Given the description of an element on the screen output the (x, y) to click on. 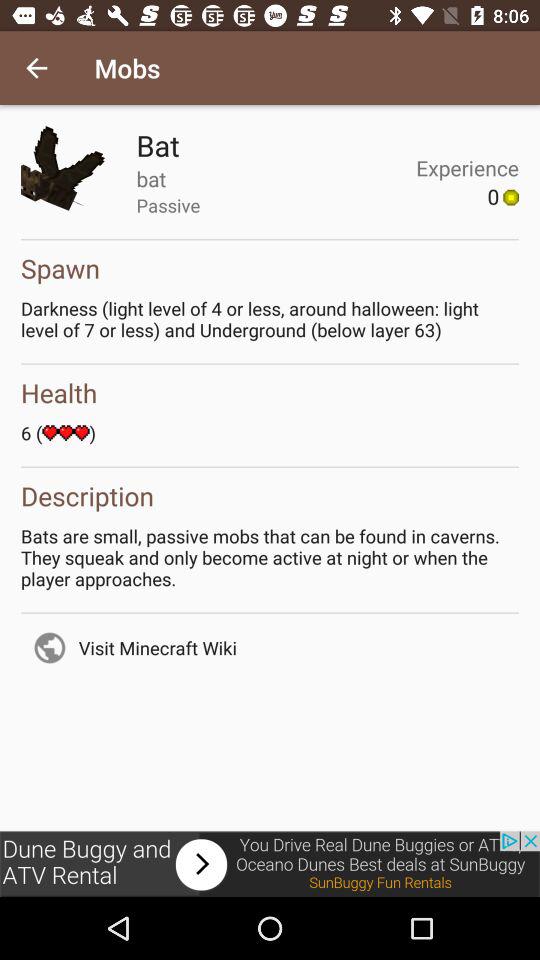
advertisement (270, 864)
